Given the description of an element on the screen output the (x, y) to click on. 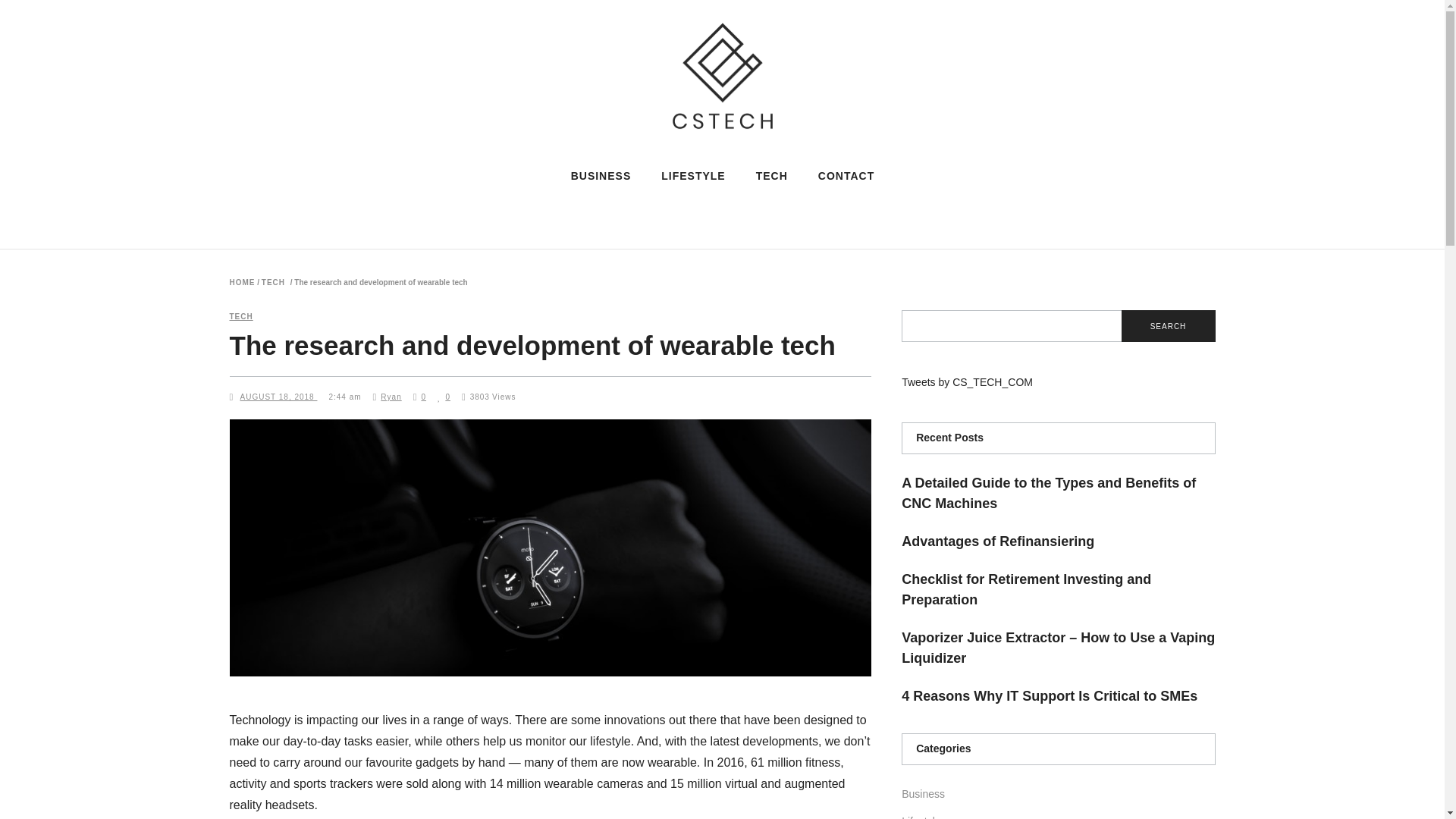
BUSINESS (601, 175)
CONTACT (846, 175)
Like this (443, 397)
LIFESTYLE (692, 175)
4 Reasons Why IT Support Is Critical to SMEs (1048, 695)
A Detailed Guide to the Types and Benefits of CNC Machines (1048, 493)
Search (1168, 326)
0 (419, 397)
TECH (273, 282)
Business (922, 793)
Checklist for Retirement Investing and Preparation (1026, 589)
0 (443, 397)
Lifestyle (920, 816)
HOME (241, 282)
Search (1168, 326)
